Given the description of an element on the screen output the (x, y) to click on. 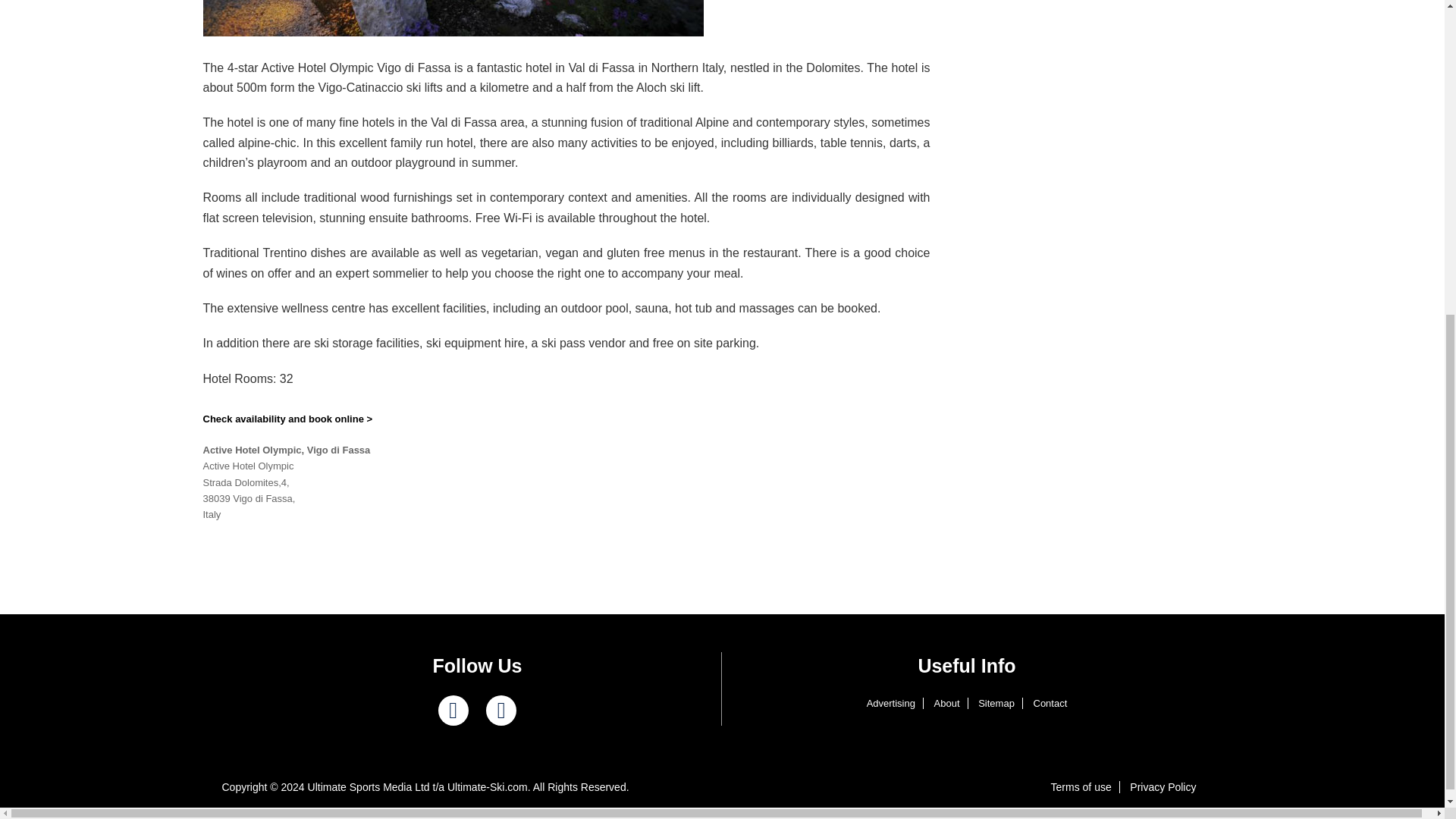
Privacy Policy (1163, 787)
Sitemap (997, 703)
Contact (1049, 703)
About (947, 703)
Advertising (891, 703)
Terms of use (1081, 787)
